Given the description of an element on the screen output the (x, y) to click on. 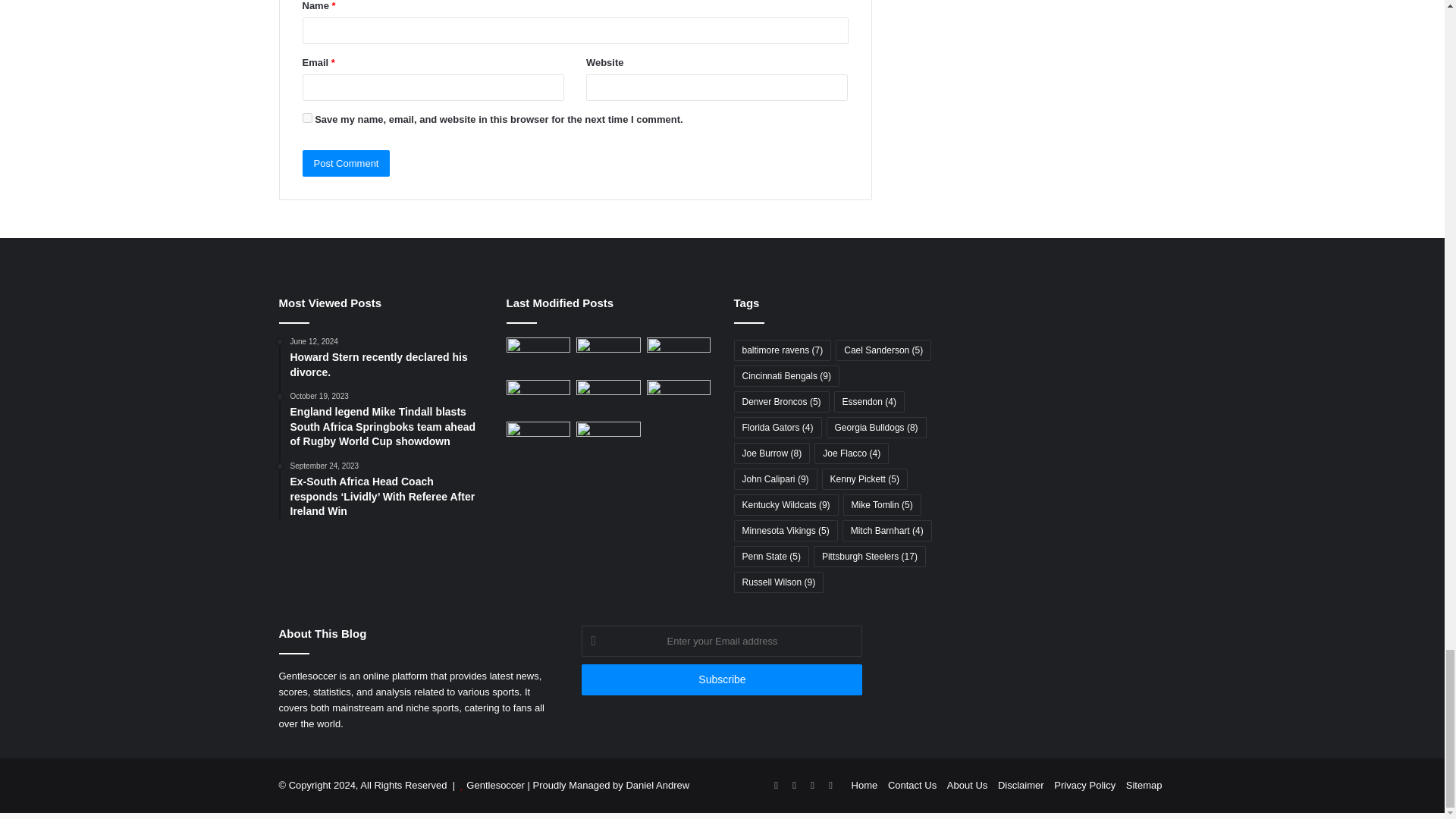
yes (306, 117)
Post Comment (345, 162)
Subscribe (720, 679)
